Given the description of an element on the screen output the (x, y) to click on. 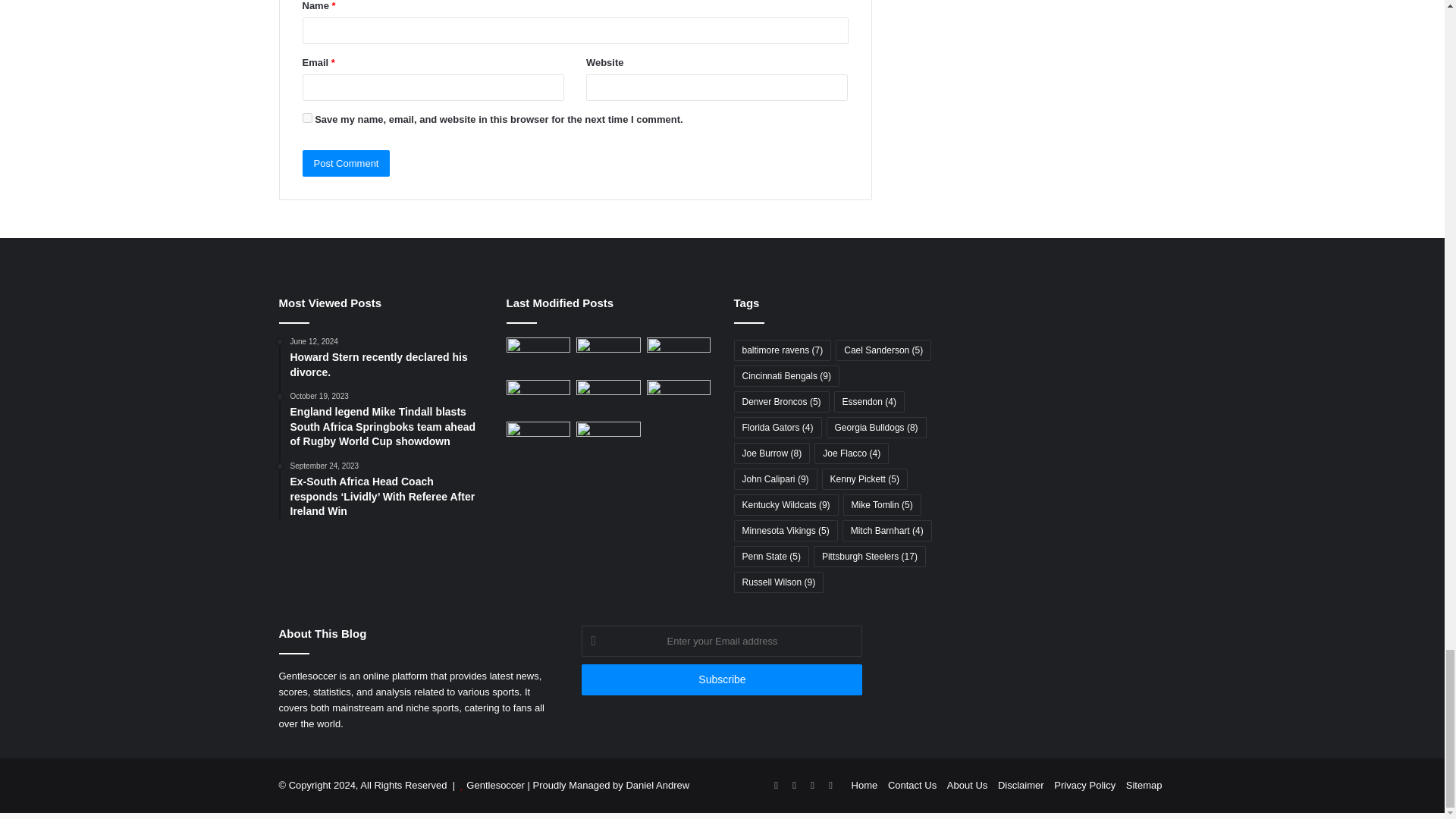
yes (306, 117)
Post Comment (345, 162)
Subscribe (720, 679)
